Given the description of an element on the screen output the (x, y) to click on. 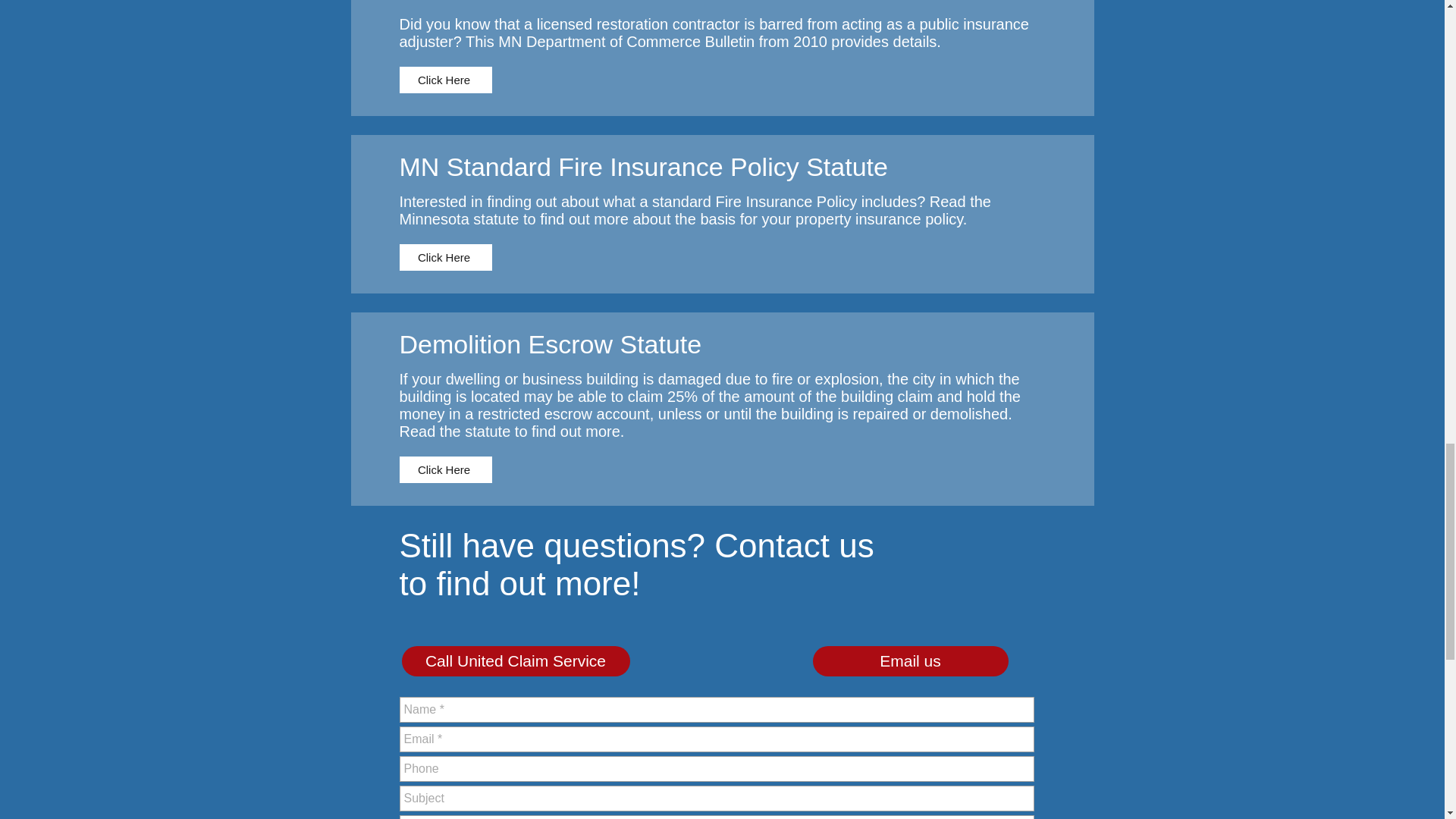
Call United Claim Service (515, 661)
Click Here (445, 257)
Click Here (445, 79)
Click Here (445, 469)
Email us (910, 661)
